Given the description of an element on the screen output the (x, y) to click on. 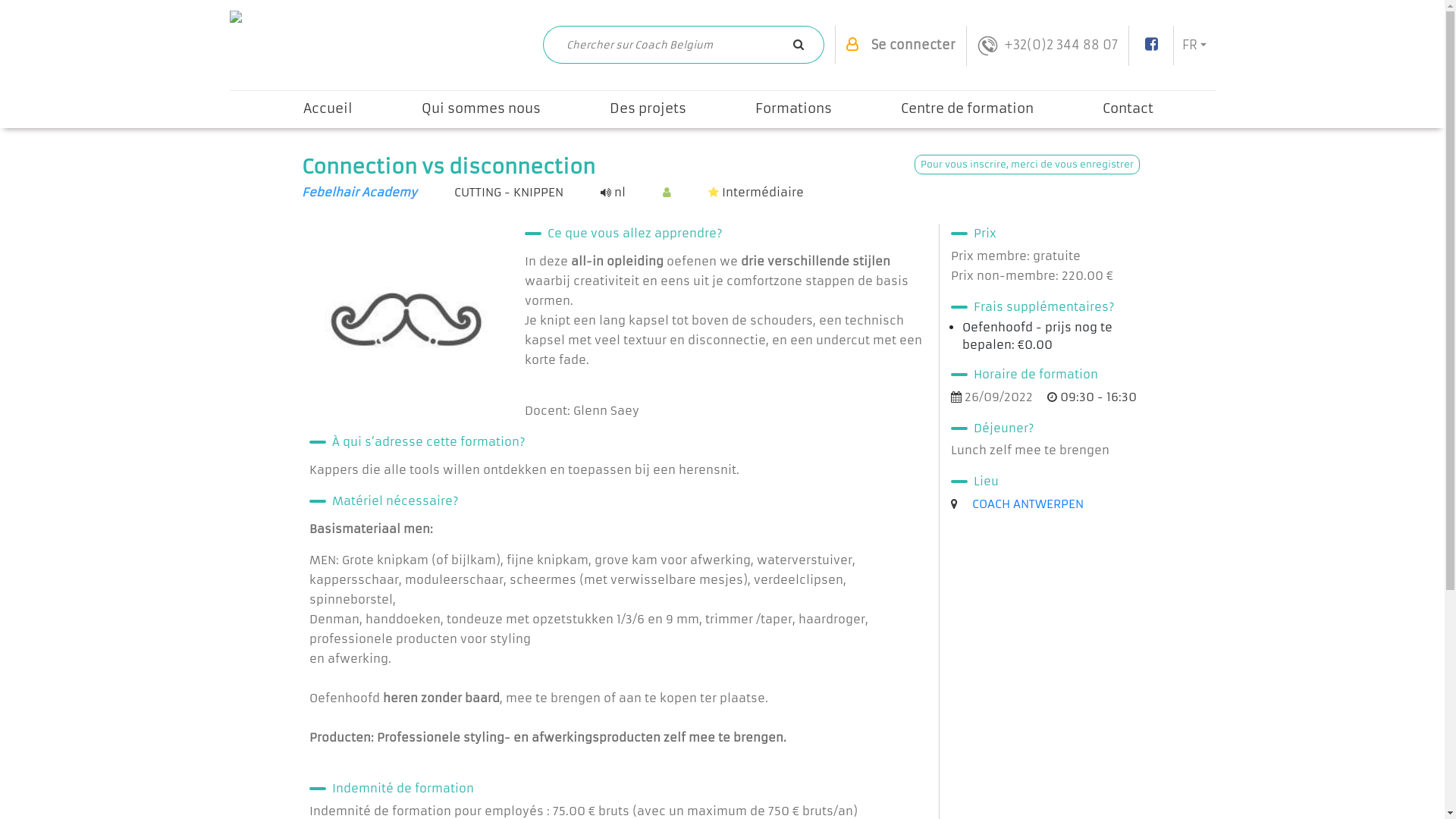
Centre de formation Element type: text (966, 109)
Qui sommes nous Element type: text (479, 109)
Se connecter Element type: text (913, 44)
Contact Element type: text (1126, 109)
+32(0)2 344 88 07 Element type: text (1047, 45)
COACH ANTWERPEN Element type: text (1027, 502)
Places disponibles Element type: hover (666, 191)
Accueil Element type: text (326, 109)
Des projets Element type: text (646, 109)
FR Element type: text (1194, 44)
Pour vous inscrire, merci de vous enregistrer Element type: text (1026, 164)
Formations Element type: text (792, 109)
